Given the description of an element on the screen output the (x, y) to click on. 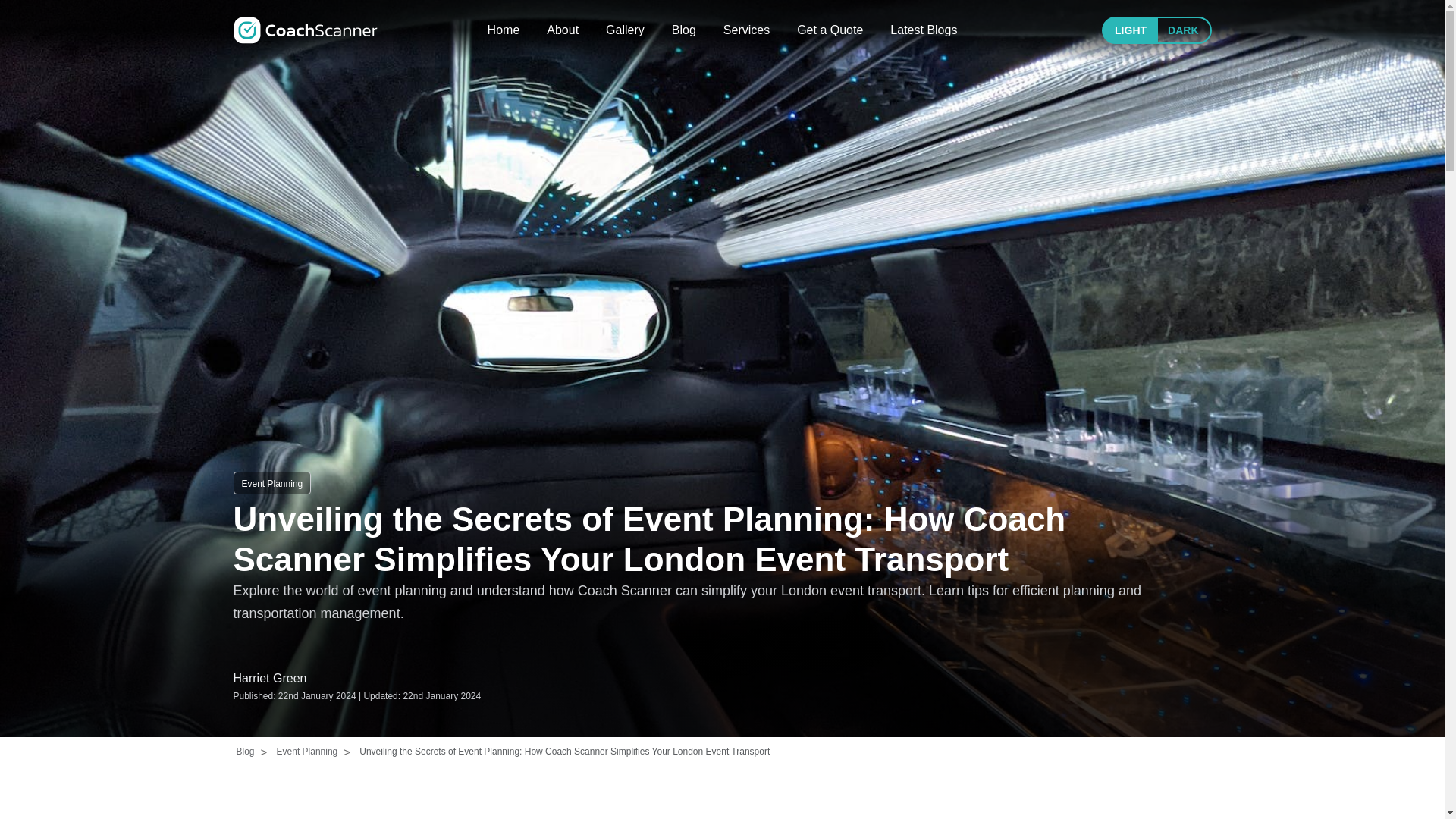
Get a Quote (829, 30)
Coach Scanner (304, 30)
Latest Blogs (922, 30)
Get a Quote (829, 30)
Latest Blogs (922, 30)
